Given the description of an element on the screen output the (x, y) to click on. 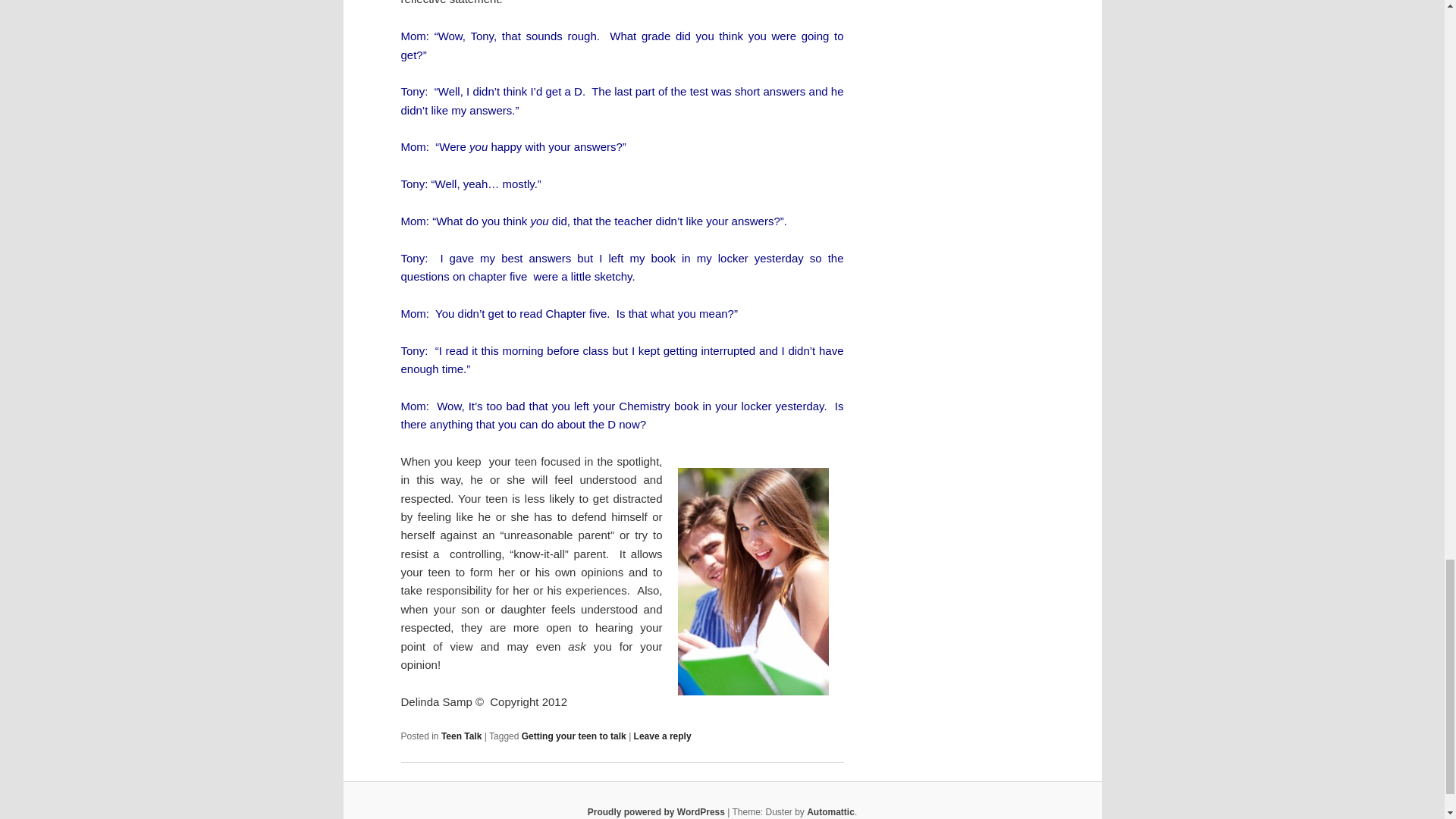
Proudly powered by WordPress (656, 811)
Getting your teen to talk (573, 736)
Leave a reply (662, 736)
Automattic (830, 811)
Teen Talk (461, 736)
A Semantic Personal Publishing Platform (656, 811)
